Given the description of an element on the screen output the (x, y) to click on. 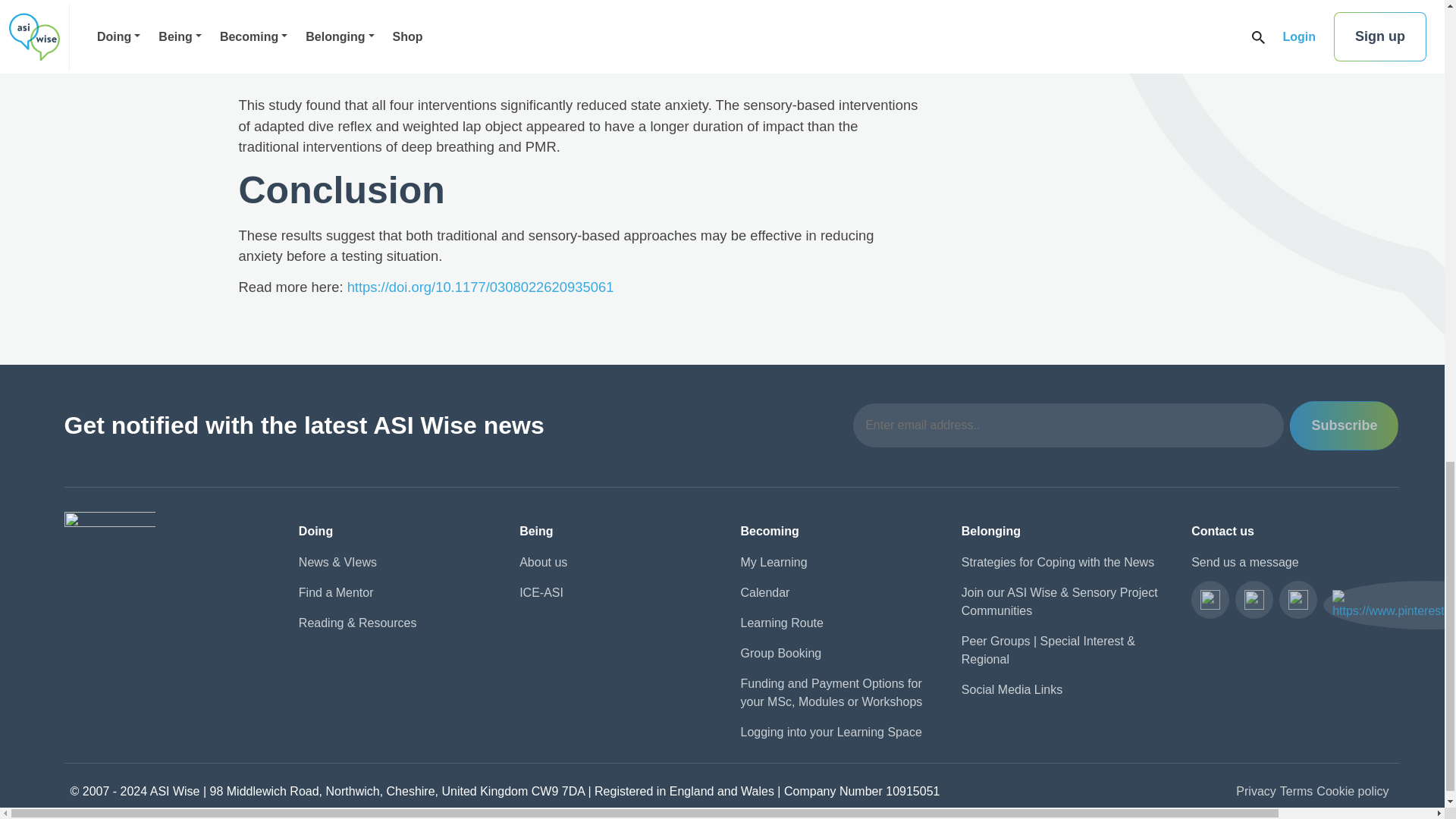
My Learning (840, 562)
Find a Mentor (399, 593)
Subscribe (1343, 425)
About us (620, 562)
Calendar (840, 593)
ICE-ASI (620, 593)
